Given the description of an element on the screen output the (x, y) to click on. 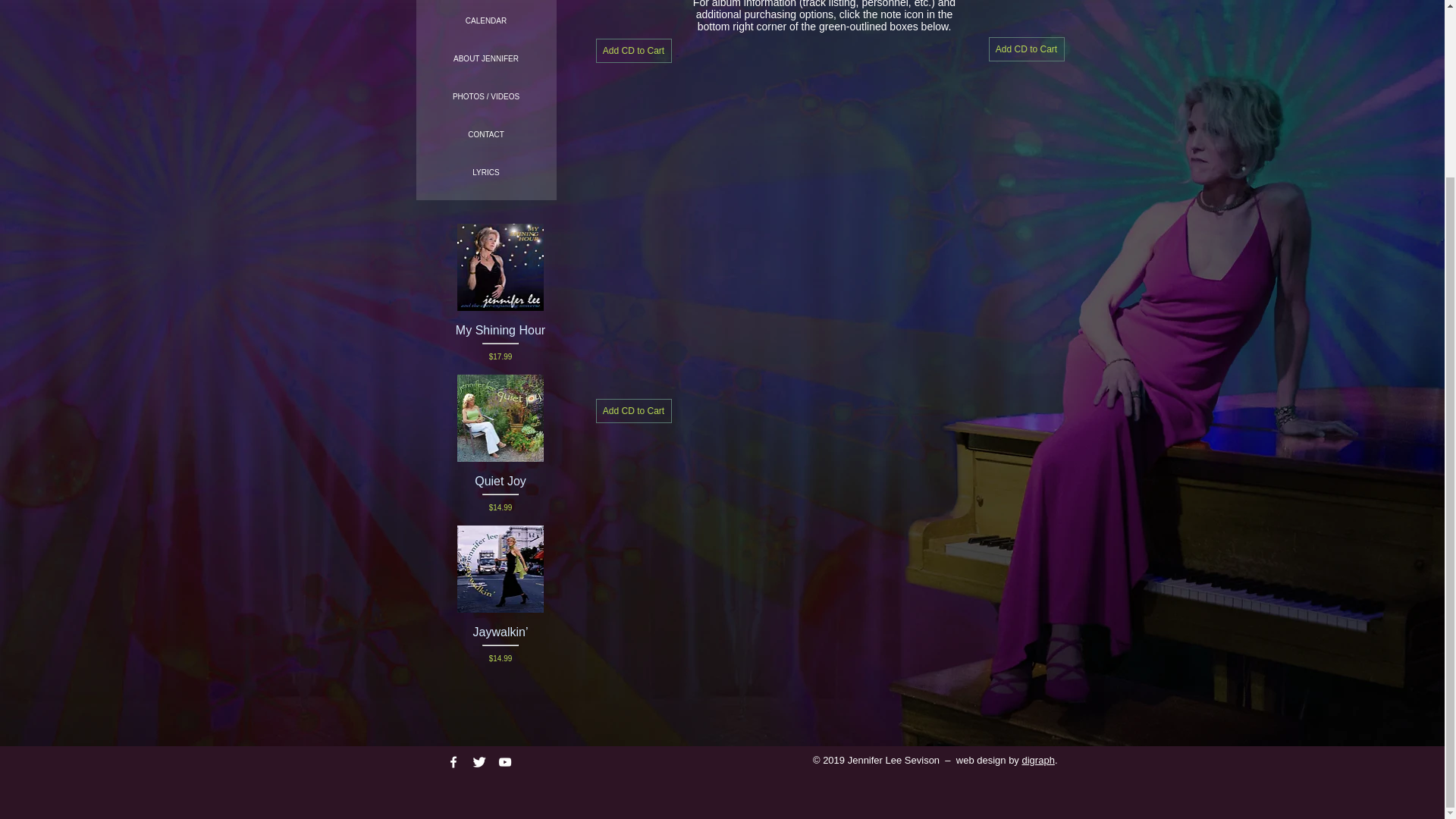
LYRICS (486, 172)
RECORDINGS (486, 1)
ABOUT JENNIFER (486, 58)
CALENDAR (486, 21)
Add CD to Cart (633, 410)
Add CD to Cart (1026, 48)
CONTACT (486, 134)
Add CD to Cart (633, 50)
digraph (1038, 543)
